Given the description of an element on the screen output the (x, y) to click on. 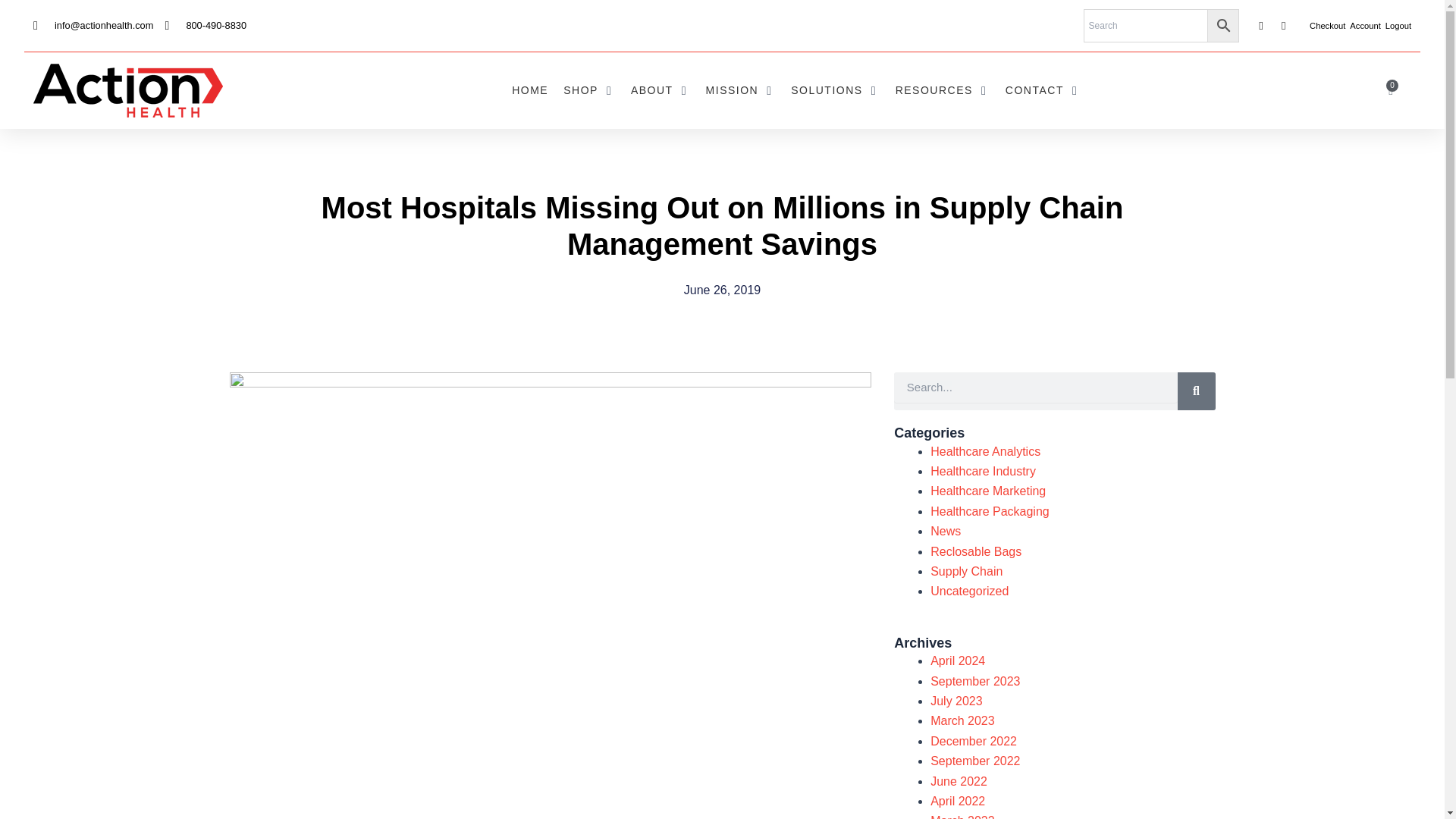
Account (1364, 25)
HOME (530, 90)
SHOP (580, 90)
800-490-8830 (205, 25)
Checkout (1326, 25)
Logout (1398, 25)
